Given the description of an element on the screen output the (x, y) to click on. 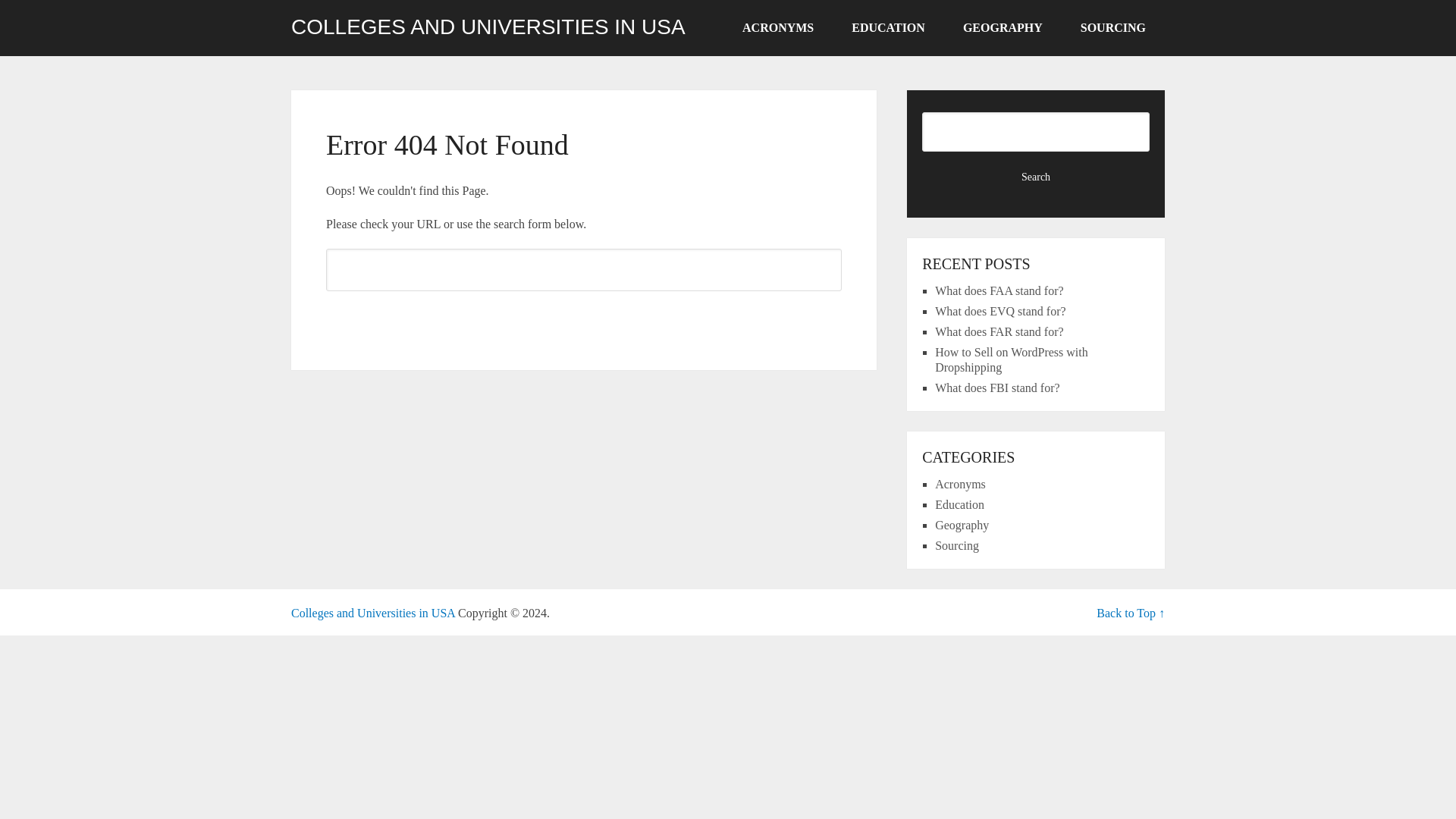
What does EVQ stand for? (999, 310)
Search (583, 316)
Acronyms (959, 483)
SOURCING (1112, 28)
Sourcing (956, 545)
How to Sell on WordPress with Dropshipping (1010, 359)
What does FBI stand for? (996, 387)
ACRONYMS (777, 28)
What does FAR stand for? (998, 331)
GEOGRAPHY (1002, 28)
